Given the description of an element on the screen output the (x, y) to click on. 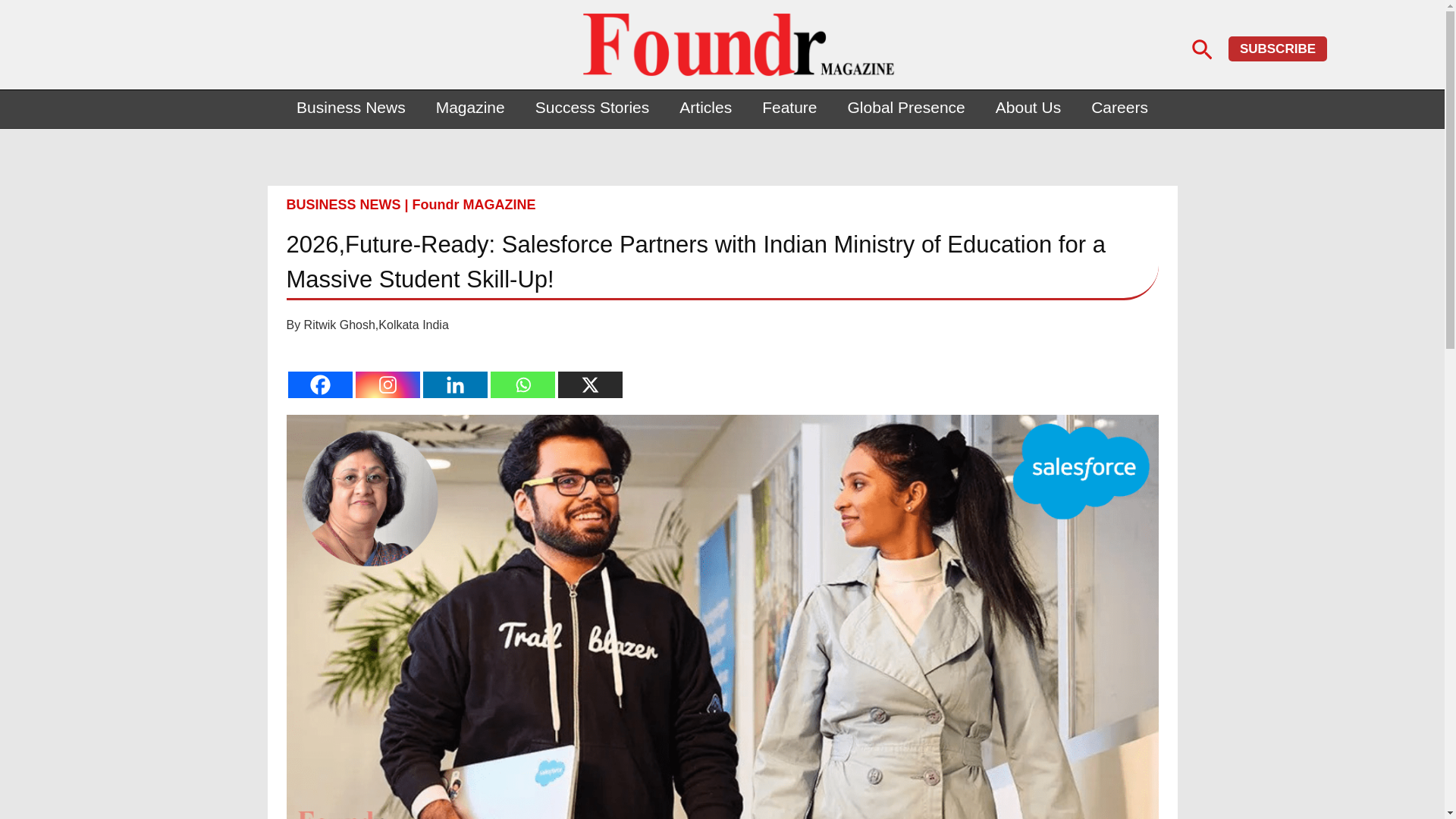
Facebook (320, 384)
Articles (704, 107)
Careers (1119, 107)
Magazine (469, 107)
Feature (788, 107)
Instagram (387, 384)
Success Stories (592, 107)
Global Presence (905, 107)
Linkedin (455, 384)
Business News (350, 107)
